Given the description of an element on the screen output the (x, y) to click on. 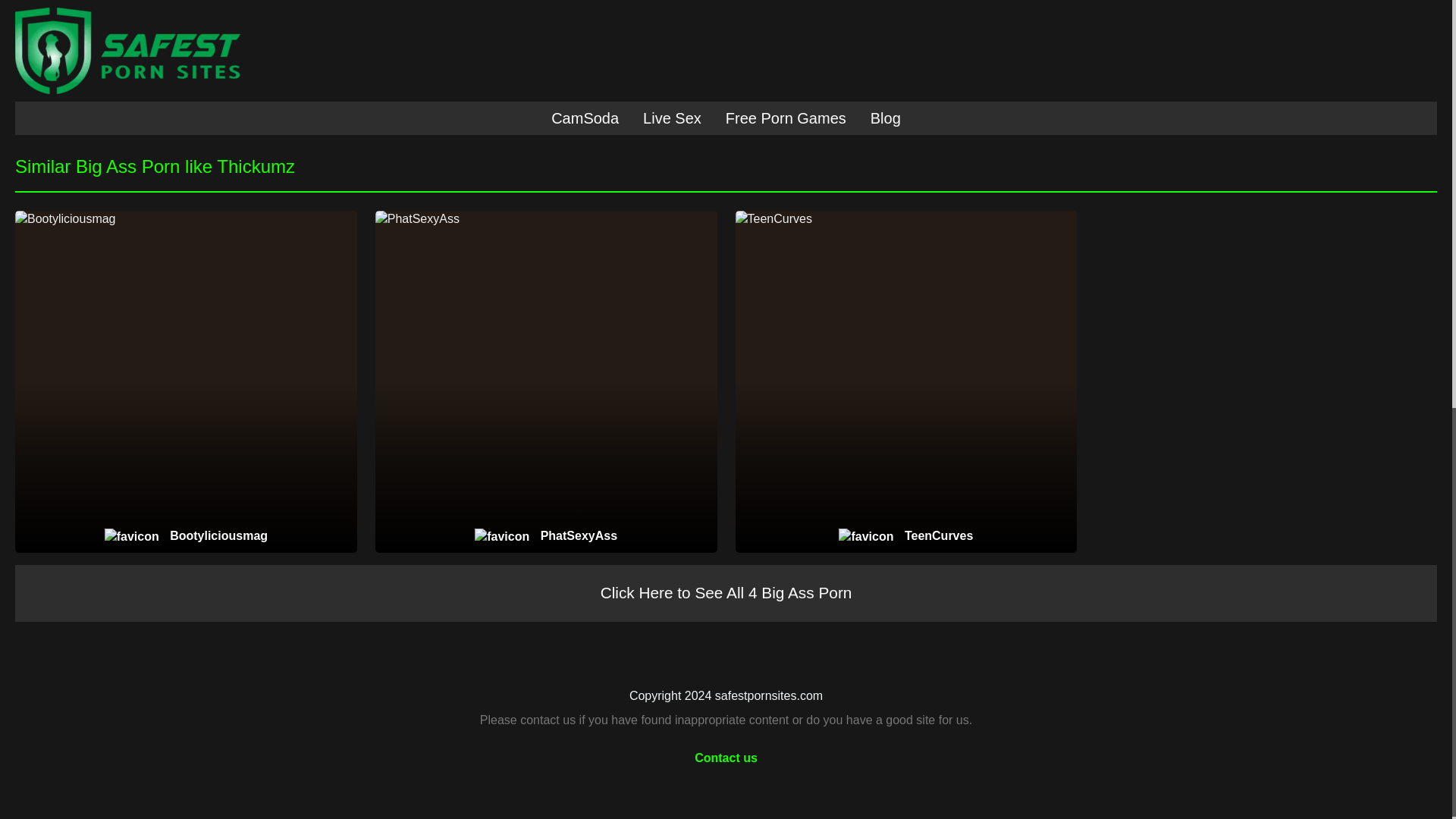
Bootyliciousmag (185, 536)
Visit Thickumz.com (365, 82)
TeenCurves (905, 536)
See All 4 Big Ass Porn (1086, 82)
Click Here to See All 4 Big Ass Porn (725, 593)
PhatSexyAss (545, 536)
